Given the description of an element on the screen output the (x, y) to click on. 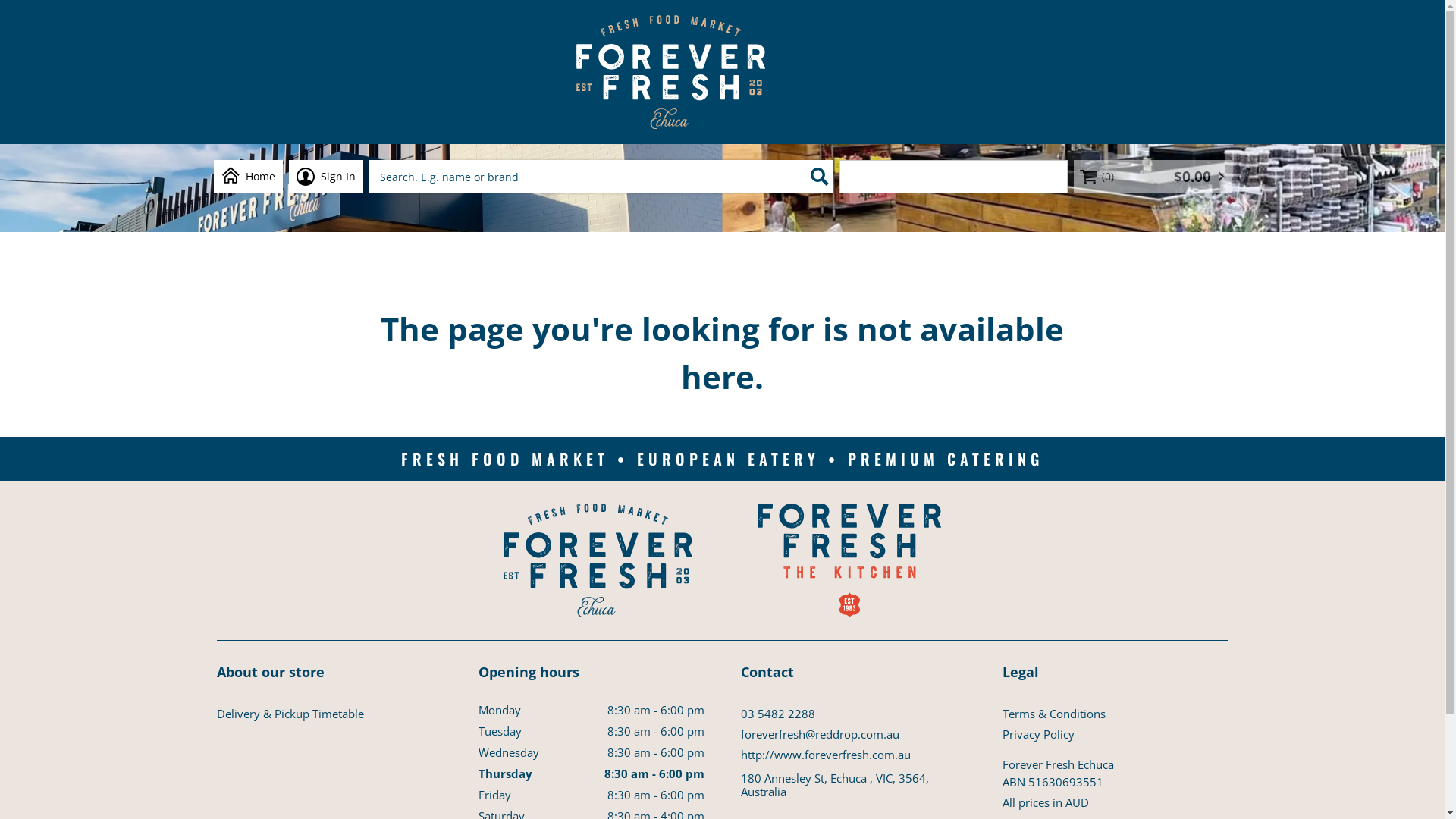
Search Element type: hover (818, 176)
(0)
$0.00 Element type: text (1152, 176)
180 Annesley St, Echuca , VIC, 3564, Australia Element type: text (853, 784)
http://www.foreverfresh.com.au Element type: text (853, 753)
Privacy Policy Element type: text (1115, 733)
Terms & Conditions Element type: text (1115, 712)
CHOOSE
Time Element type: text (1021, 176)
03 5482 2288 Element type: text (853, 712)
Forever Fresh Element type: text (721, 71)
Sign In Element type: text (325, 176)
Home Element type: text (247, 176)
foreverfresh@reddrop.com.au Element type: text (853, 733)
CHOOSE
Delivery or Pickup Element type: text (908, 176)
Delivery & Pickup Timetable Element type: text (329, 712)
